Given the description of an element on the screen output the (x, y) to click on. 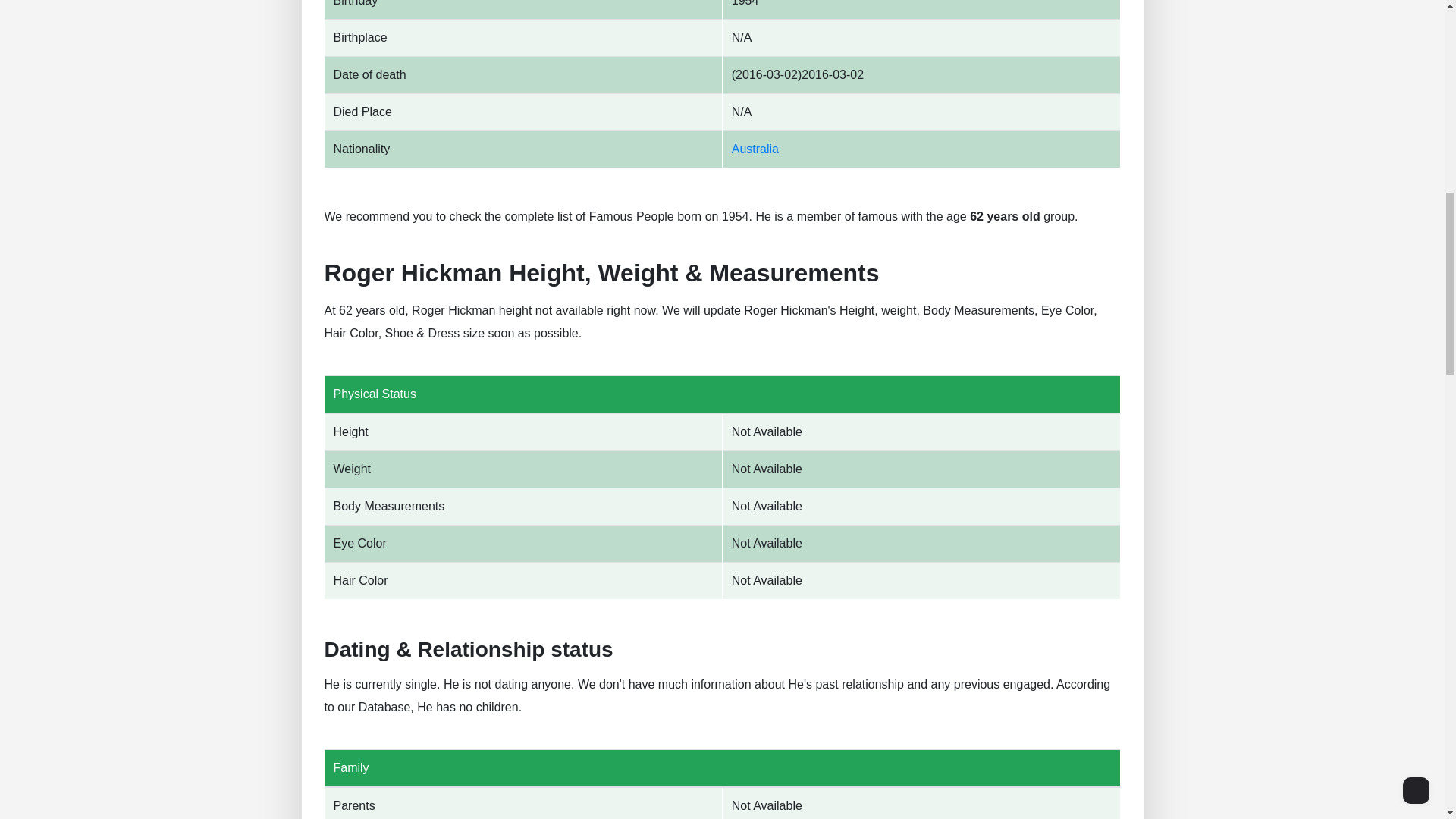
Australia (755, 148)
